Given the description of an element on the screen output the (x, y) to click on. 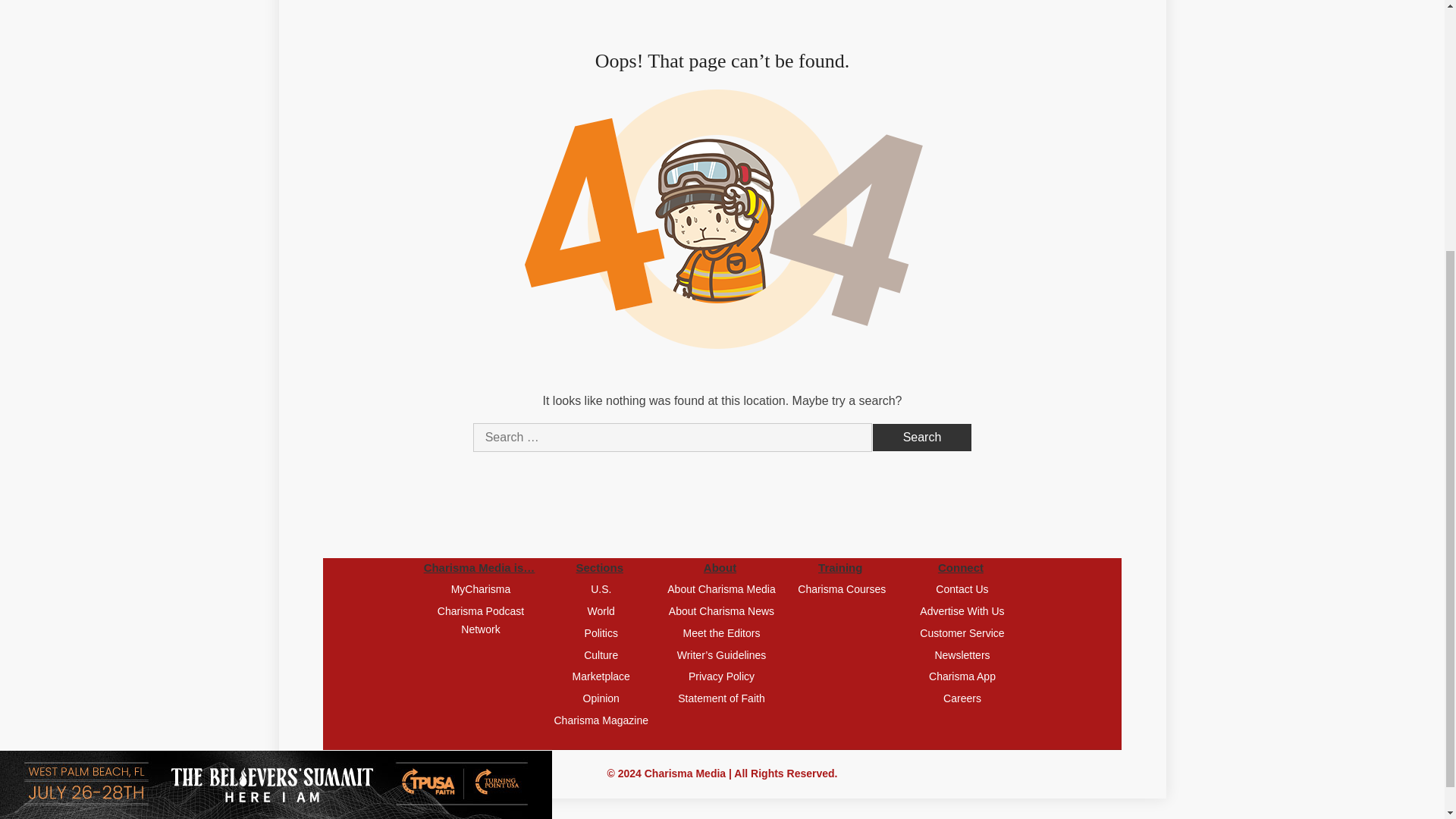
Search (922, 437)
Search (922, 437)
